Given the description of an element on the screen output the (x, y) to click on. 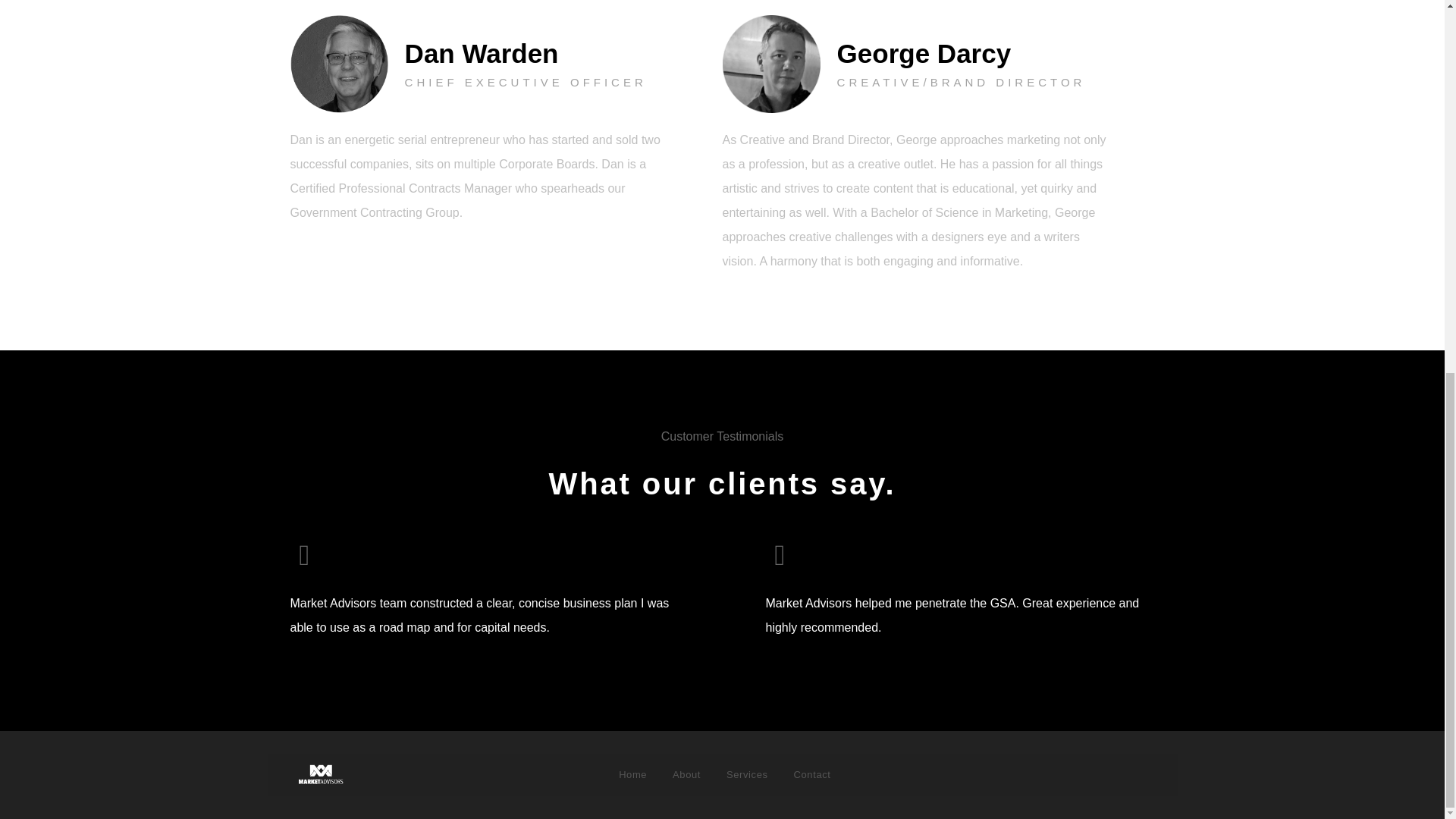
Home (632, 774)
Contact (813, 774)
About (686, 774)
Services (746, 774)
